Given the description of an element on the screen output the (x, y) to click on. 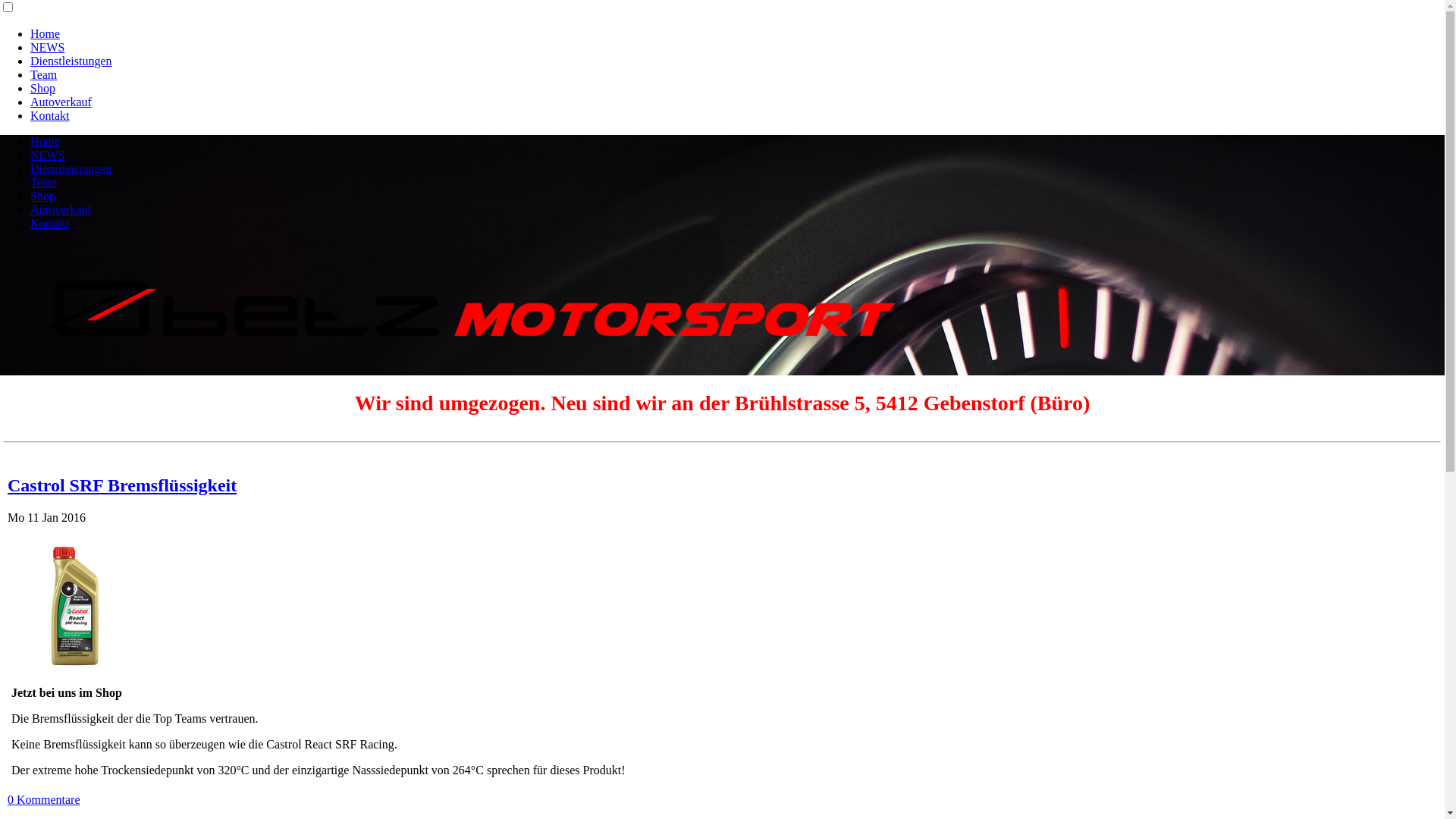
Team Element type: text (43, 74)
Dienstleistungen Element type: text (71, 60)
Kontakt Element type: text (49, 115)
Dienstleistungen Element type: text (71, 168)
Shop Element type: text (42, 87)
NEWS Element type: text (47, 154)
Shop Element type: text (42, 195)
Team Element type: text (43, 181)
Home Element type: text (44, 140)
Kontakt Element type: text (49, 222)
Autoverkauf Element type: text (60, 101)
Home Element type: text (44, 33)
NEWS Element type: text (47, 46)
0 Kommentare Element type: text (43, 799)
Autoverkauf Element type: text (60, 209)
